Given the description of an element on the screen output the (x, y) to click on. 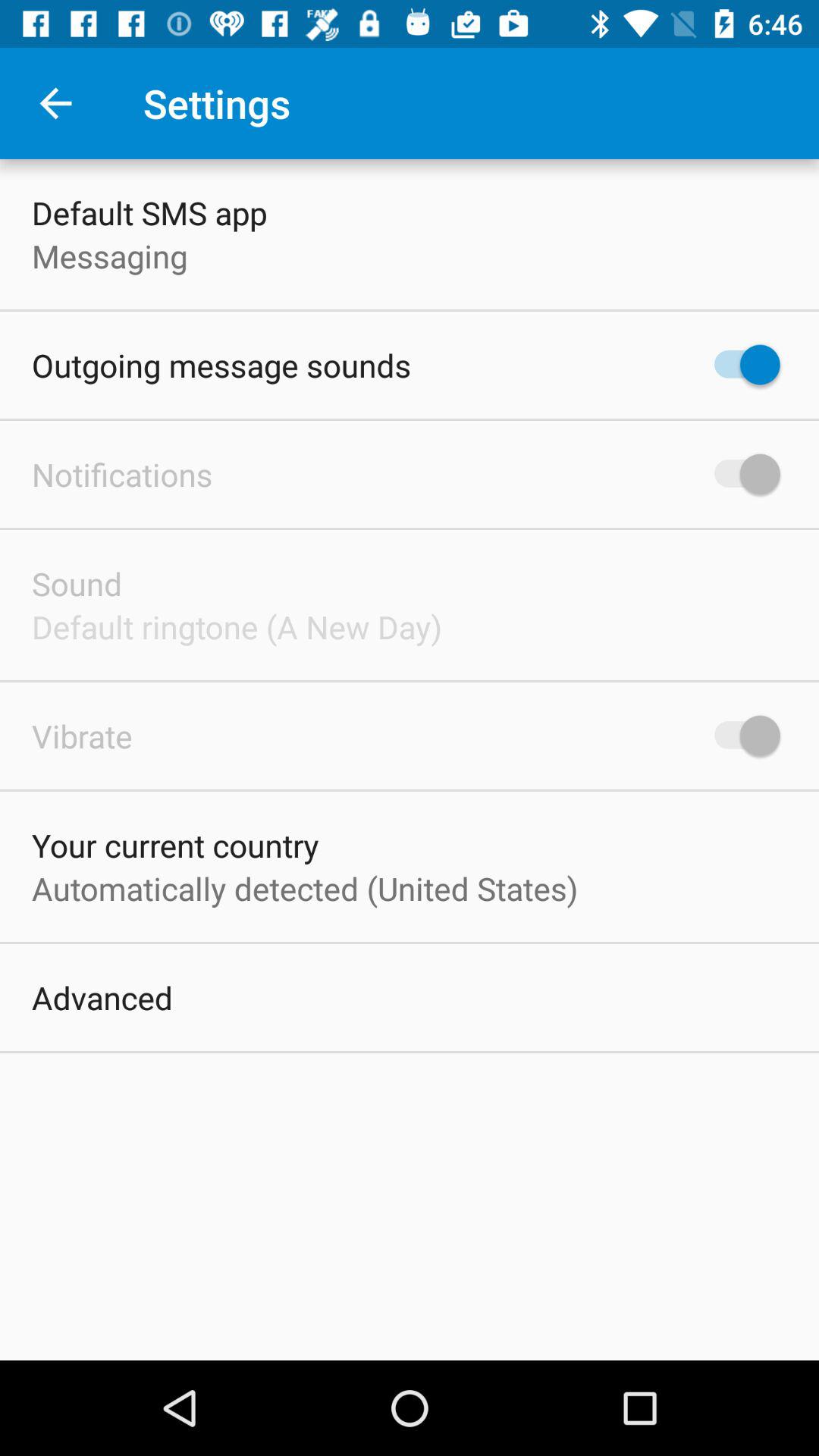
press the icon above the vibrate icon (236, 626)
